Given the description of an element on the screen output the (x, y) to click on. 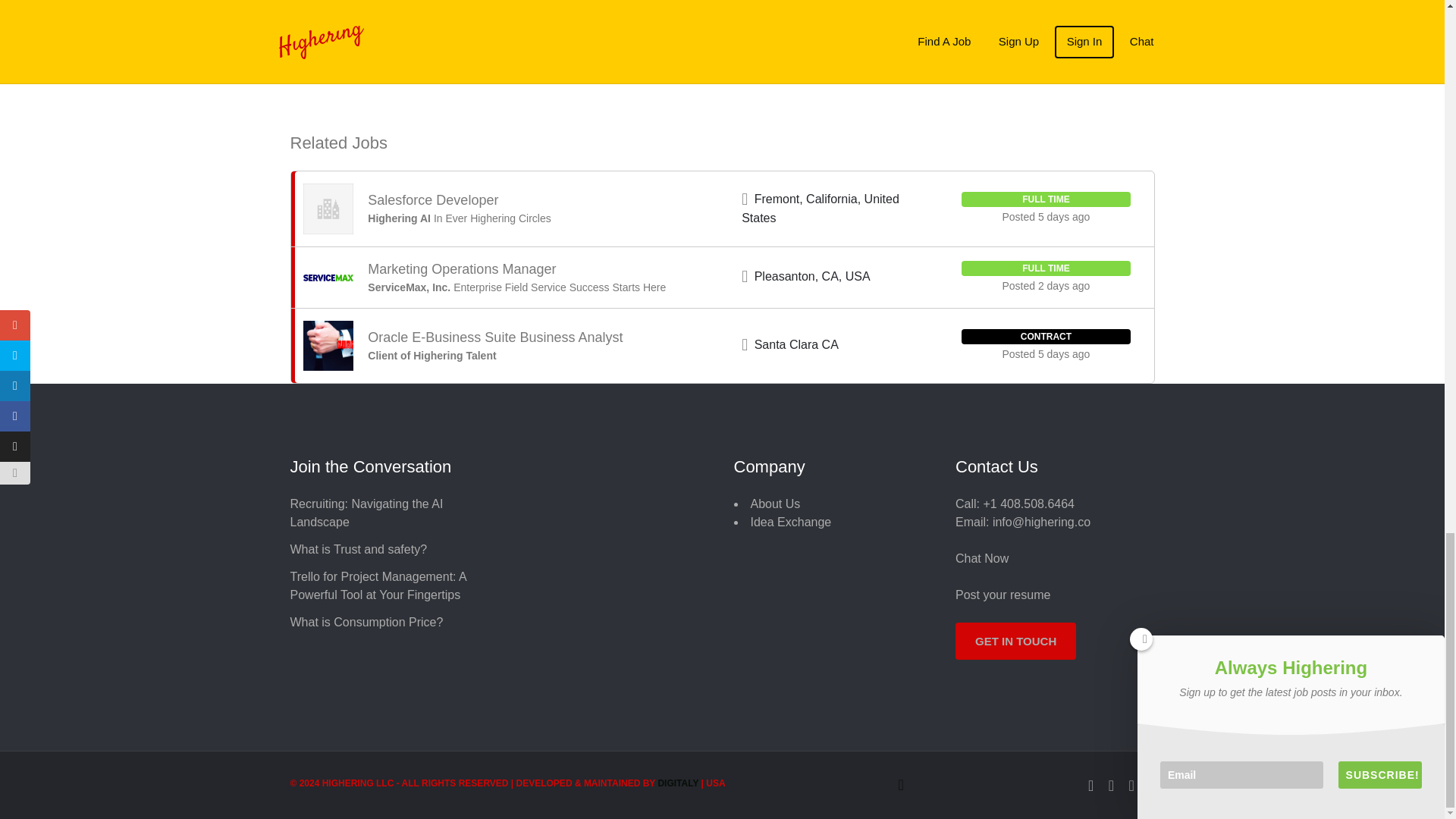
Post your resume (1002, 594)
Fremont, California, United States (820, 208)
Pleasanton, CA, USA (812, 276)
Idea Exchange (791, 521)
What is Trust and safety? (357, 549)
Santa Clara CA (796, 344)
About Us (775, 503)
Recruiting: Navigating the AI Landscape (365, 512)
About Us (775, 503)
Idea Exchange (791, 521)
What is Consumption Price? (365, 621)
DIGITALY (678, 783)
Chat Now (982, 558)
GET IN TOUCH (1015, 641)
